Given the description of an element on the screen output the (x, y) to click on. 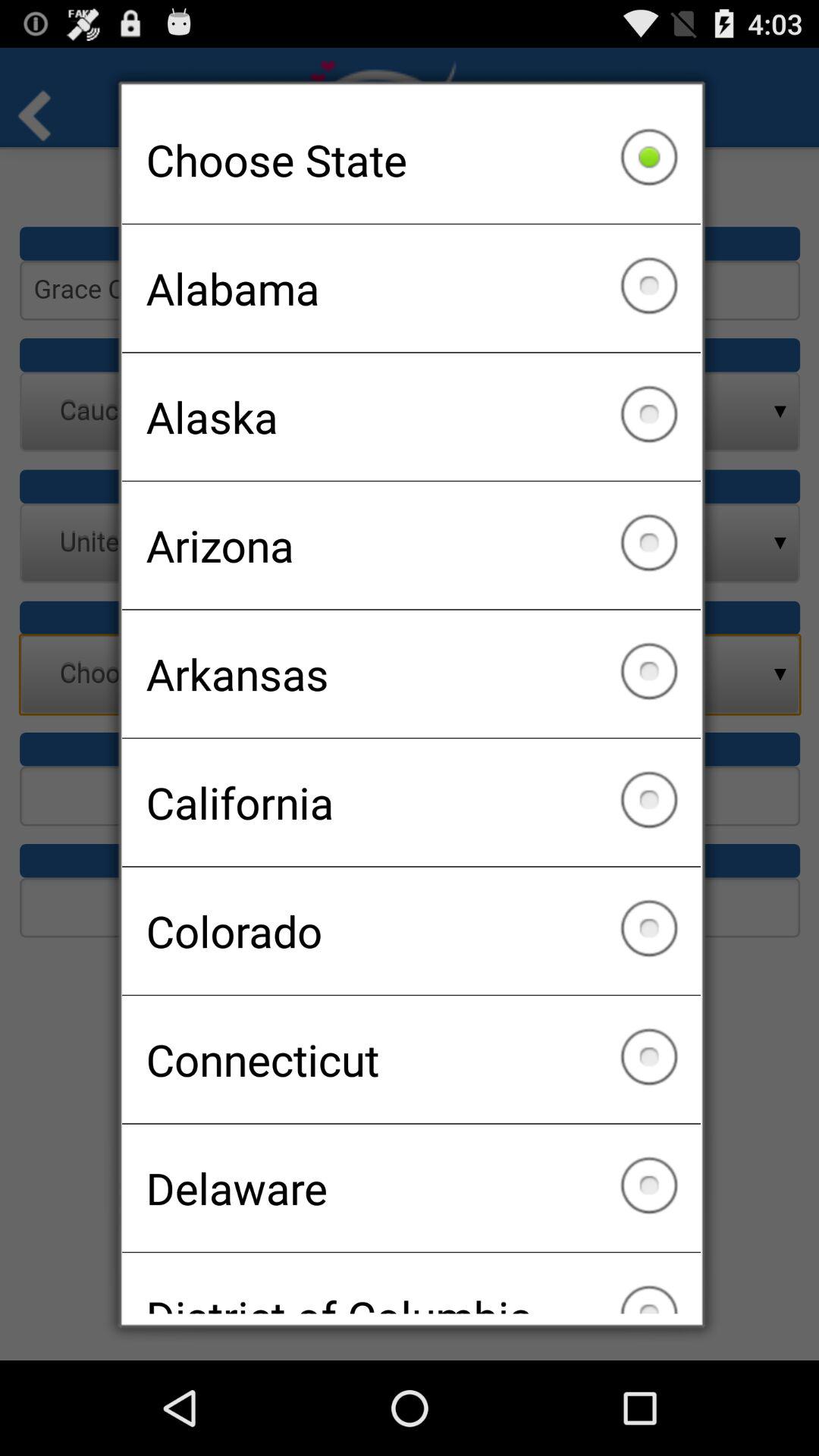
turn on arkansas (411, 673)
